Given the description of an element on the screen output the (x, y) to click on. 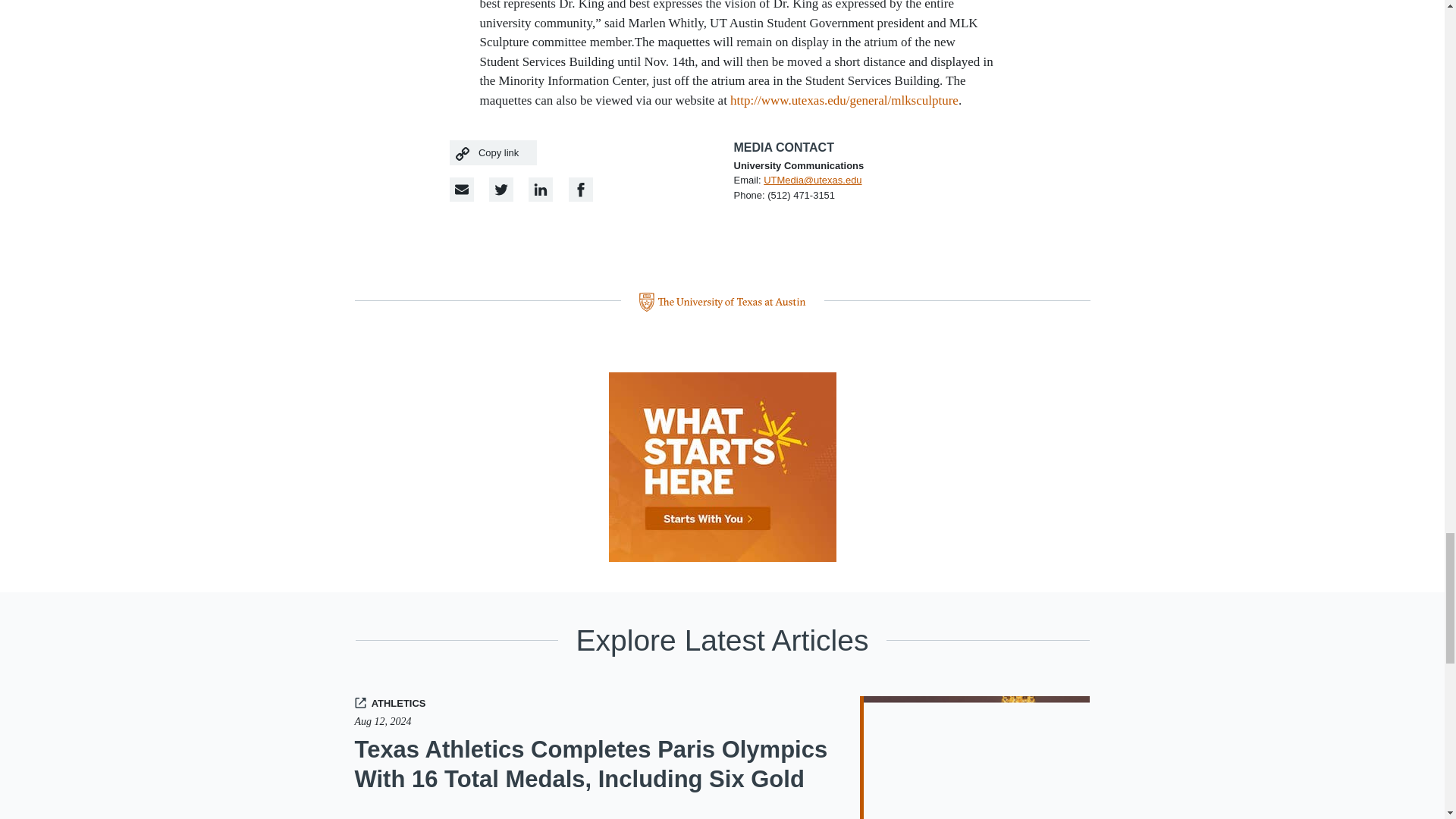
Twitter Share Link (501, 189)
Copy link (492, 152)
Email Share Link (460, 189)
